Given the description of an element on the screen output the (x, y) to click on. 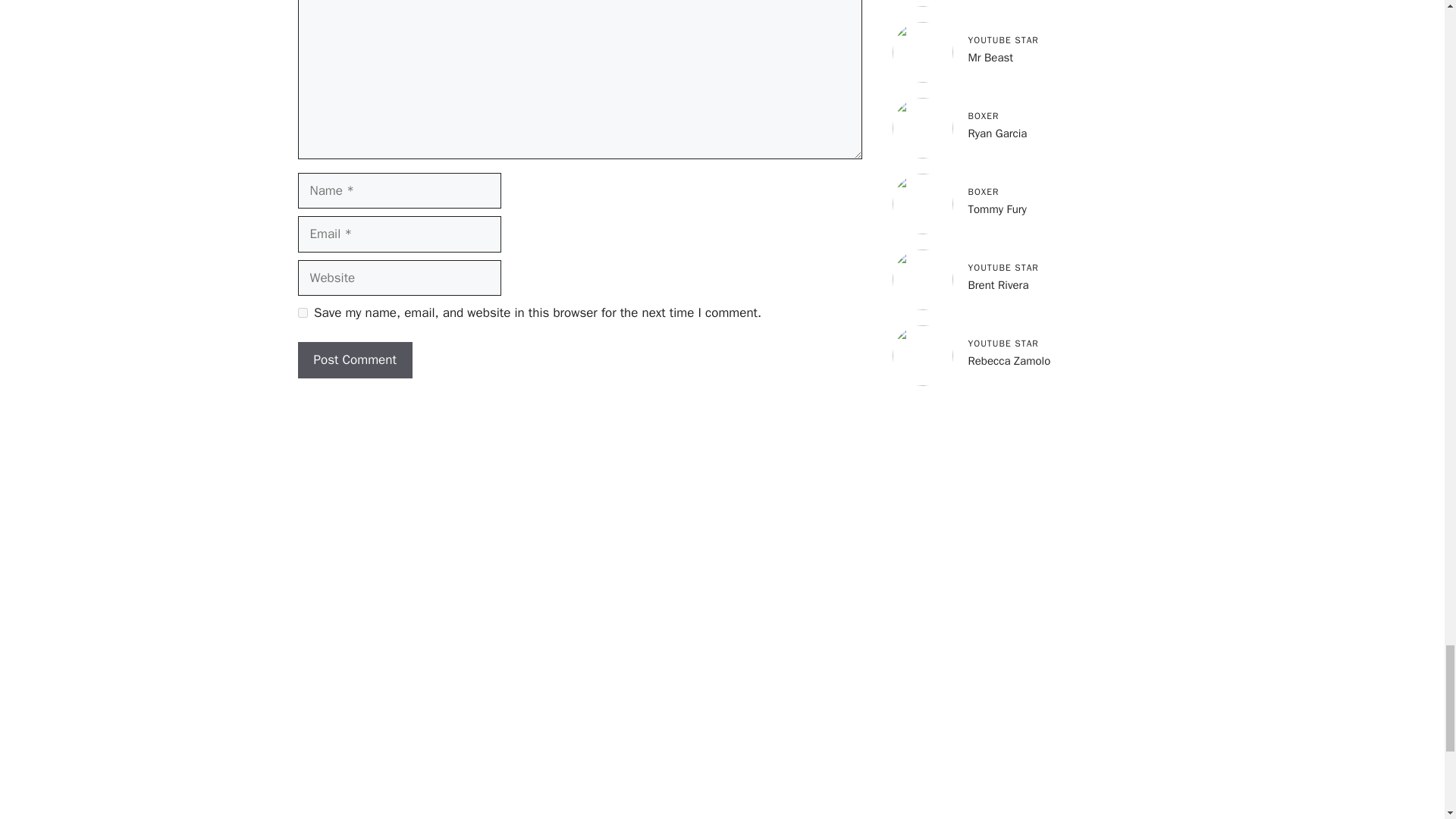
Post Comment (354, 360)
Post Comment (354, 360)
yes (302, 312)
